Given the description of an element on the screen output the (x, y) to click on. 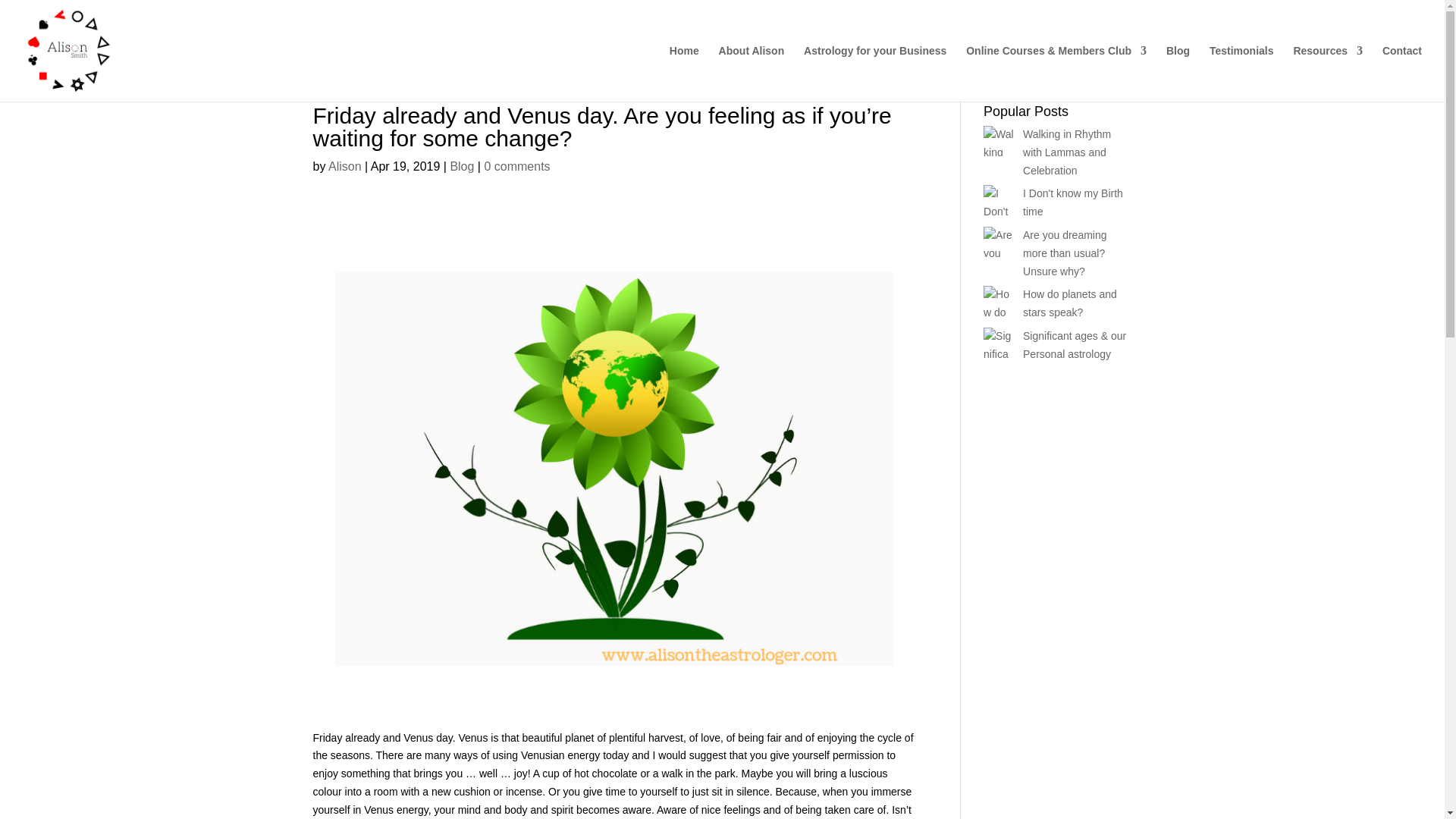
0 comments (516, 165)
Are you dreaming more than usual? Unsure why? (1064, 253)
Are you dreaming more than usual? Unsure why? (1064, 253)
Walking in Rhythm with Lammas and Celebration (1066, 151)
Walking in Rhythm with Lammas and Celebration (1066, 151)
About Alison (751, 73)
I Don't know my Birth time (1072, 202)
How do planets and stars speak? (1069, 303)
Posts by Alison (345, 165)
Astrology for your Business (874, 73)
I Don't know my Birth time (1072, 202)
Blog (461, 165)
Resources (1327, 73)
How do planets and stars speak? (1069, 303)
Alison (345, 165)
